Given the description of an element on the screen output the (x, y) to click on. 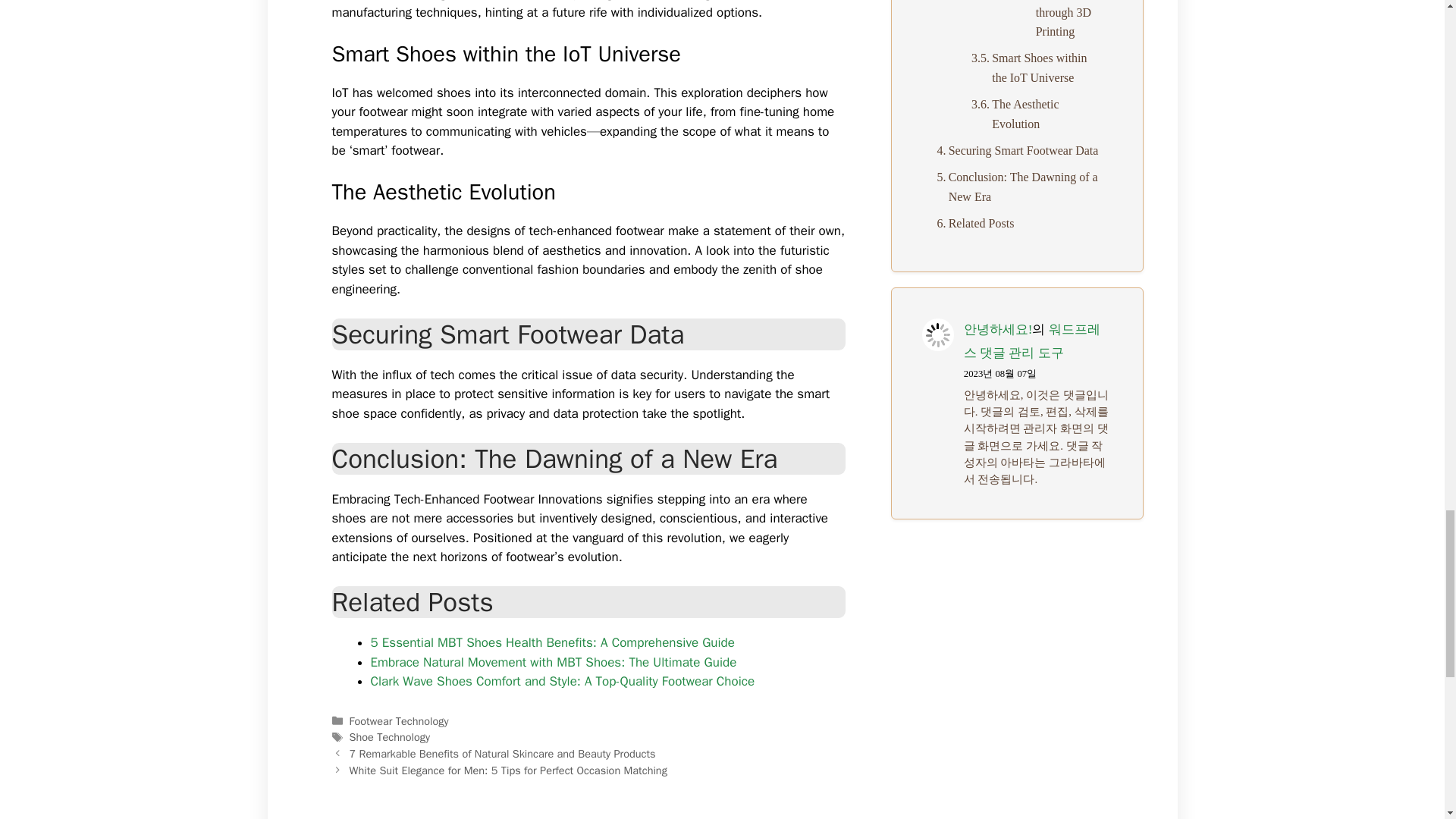
Footwear Technology (398, 721)
Embrace Natural Movement with MBT Shoes: The Ultimate Guide (552, 662)
Shoe Technology (389, 736)
5 Essential MBT Shoes Health Benefits: A Comprehensive Guide (551, 642)
